Given the description of an element on the screen output the (x, y) to click on. 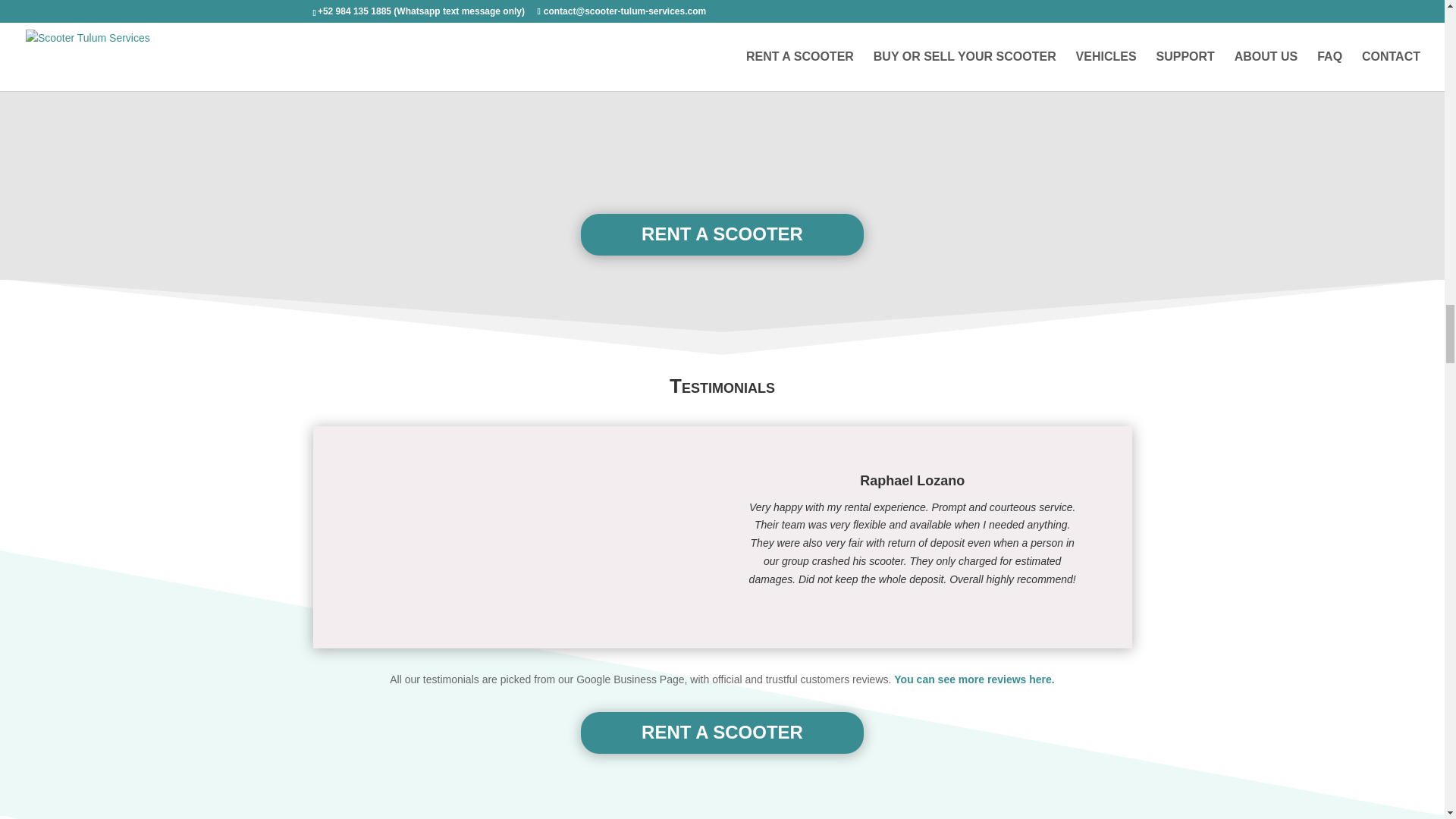
RENT A SCOOTER (721, 234)
Scooter Tulum Services - Google Page (973, 679)
RENT A SCOOTER (721, 732)
You can see more reviews here. (973, 679)
